Given the description of an element on the screen output the (x, y) to click on. 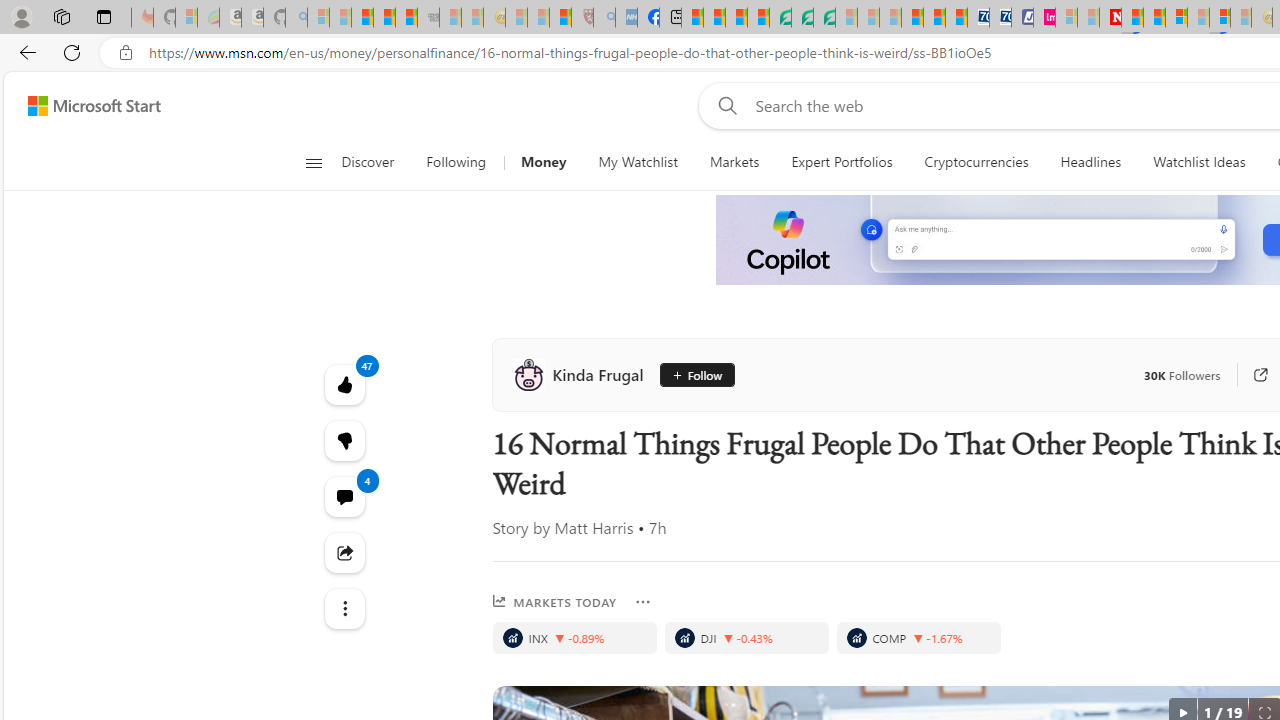
New Report Confirms 2023 Was Record Hot | Watch (406, 17)
Cryptocurrencies (975, 162)
Share this story (343, 552)
Expert Portfolios (842, 162)
